Given the description of an element on the screen output the (x, y) to click on. 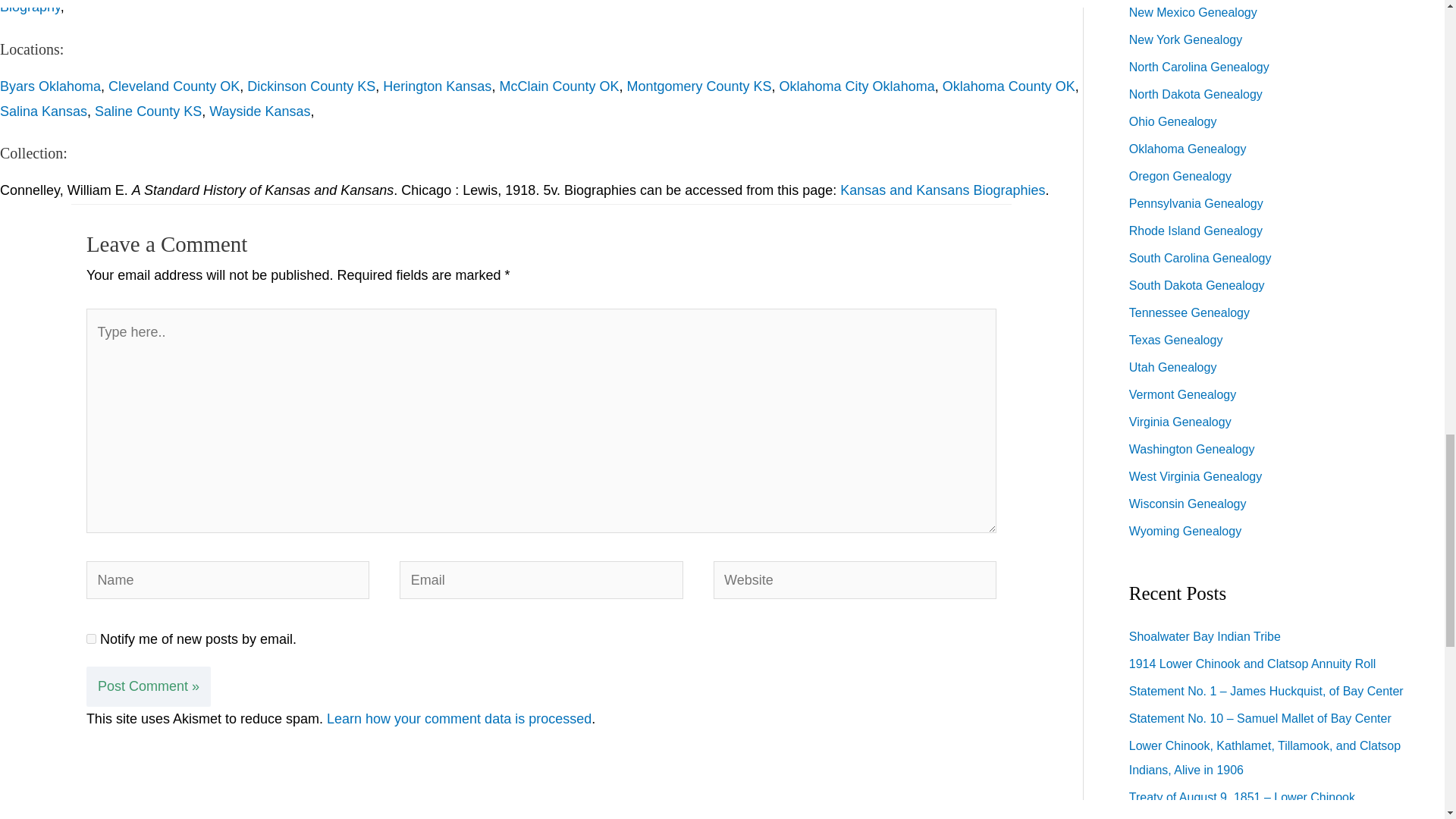
Cleveland County OK (173, 86)
Oklahoma City Oklahoma (856, 86)
Wayside Kansas (259, 111)
subscribe (90, 638)
Byars Oklahoma (50, 86)
Kansas and Kansans Biographies (942, 190)
Herington Kansas (437, 86)
Kansas and Kansans Biographies (942, 190)
Biography (30, 7)
Oklahoma County OK (1008, 86)
Dickinson County KS (311, 86)
Salina Kansas (43, 111)
McClain County OK (558, 86)
Learn how your comment data is processed (458, 718)
Saline County KS (148, 111)
